Given the description of an element on the screen output the (x, y) to click on. 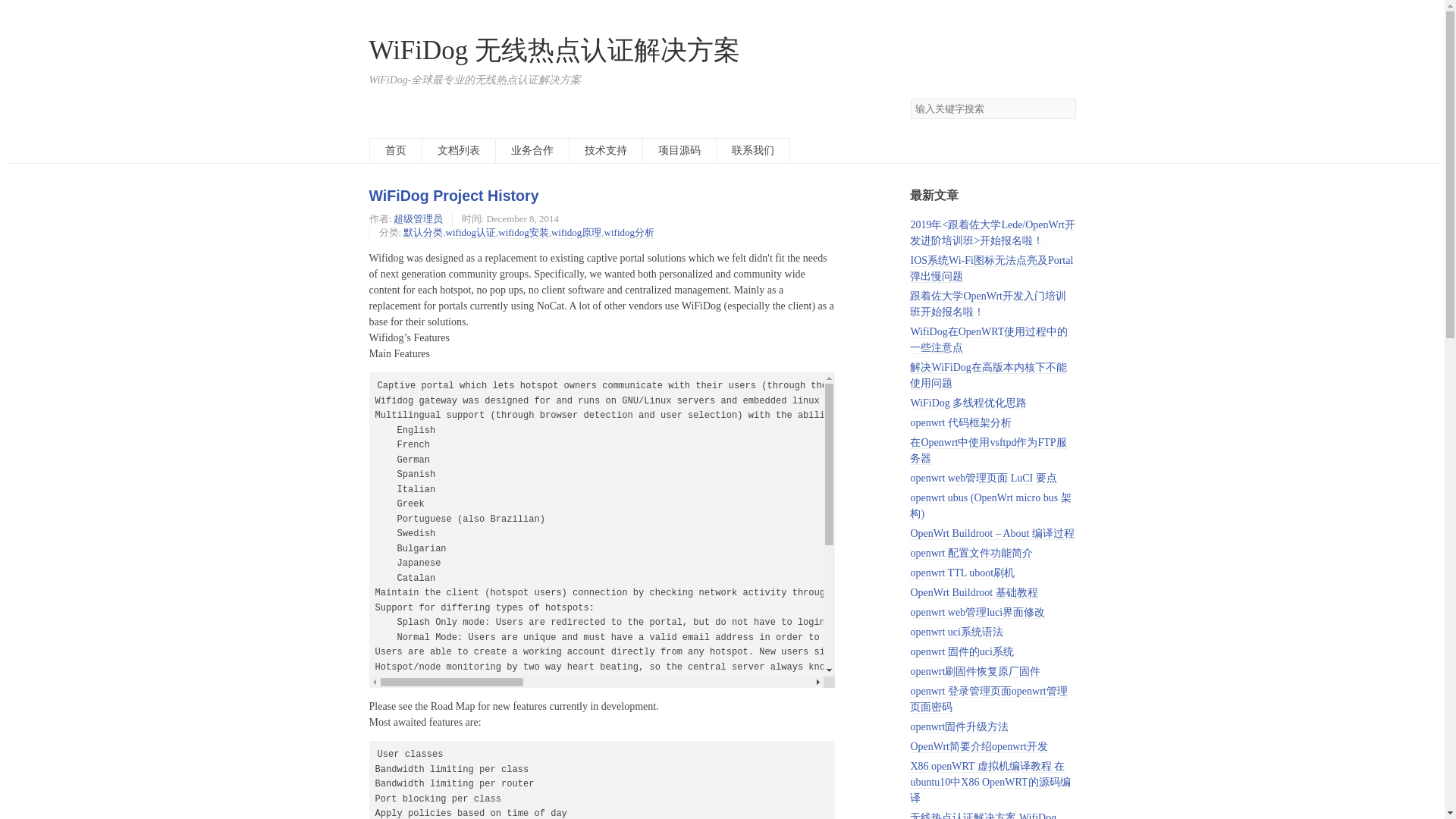
WiFiDog Project History (453, 195)
